Given the description of an element on the screen output the (x, y) to click on. 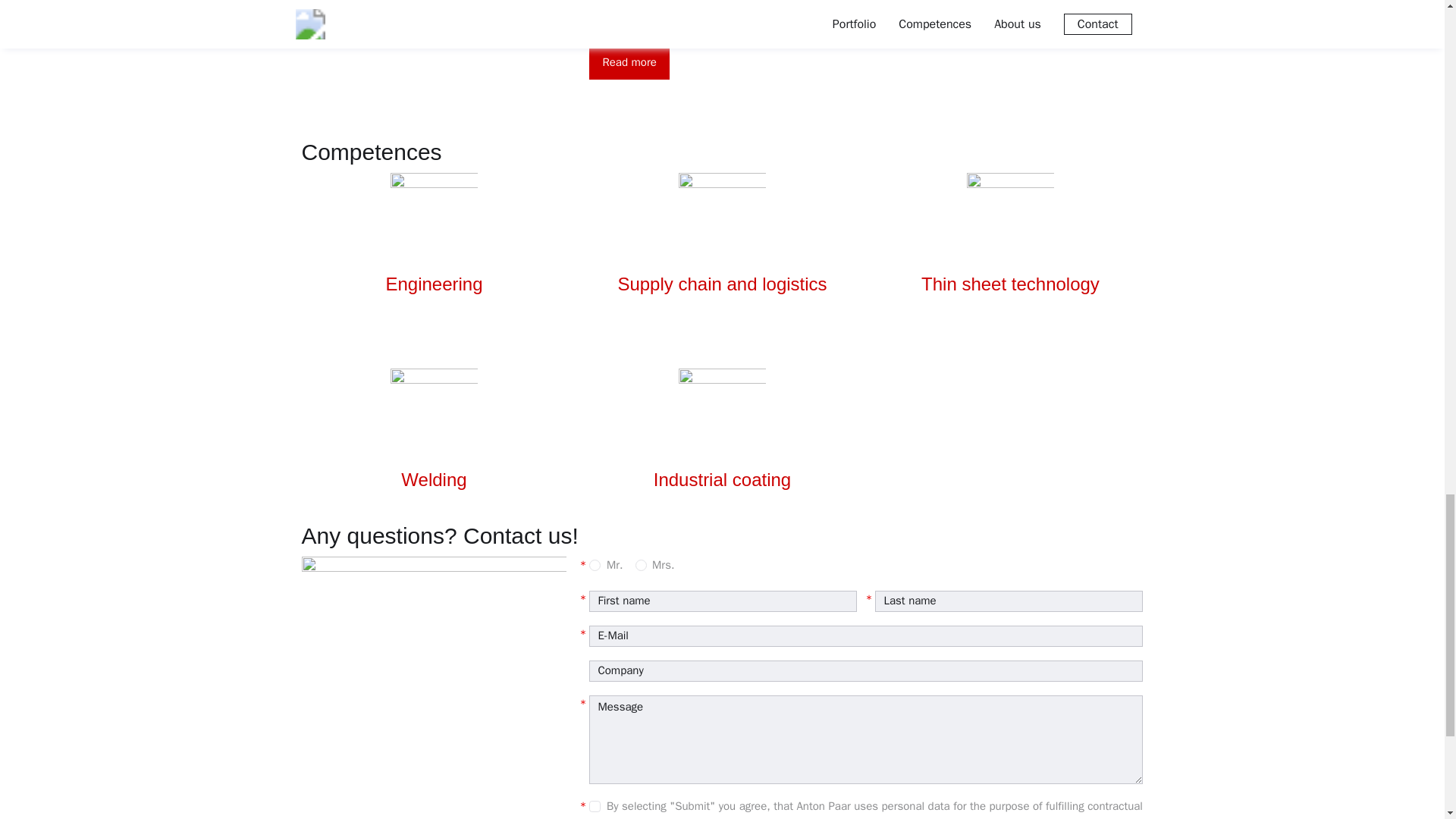
Mrs. (640, 564)
Mr. (594, 564)
yes (594, 806)
